Given the description of an element on the screen output the (x, y) to click on. 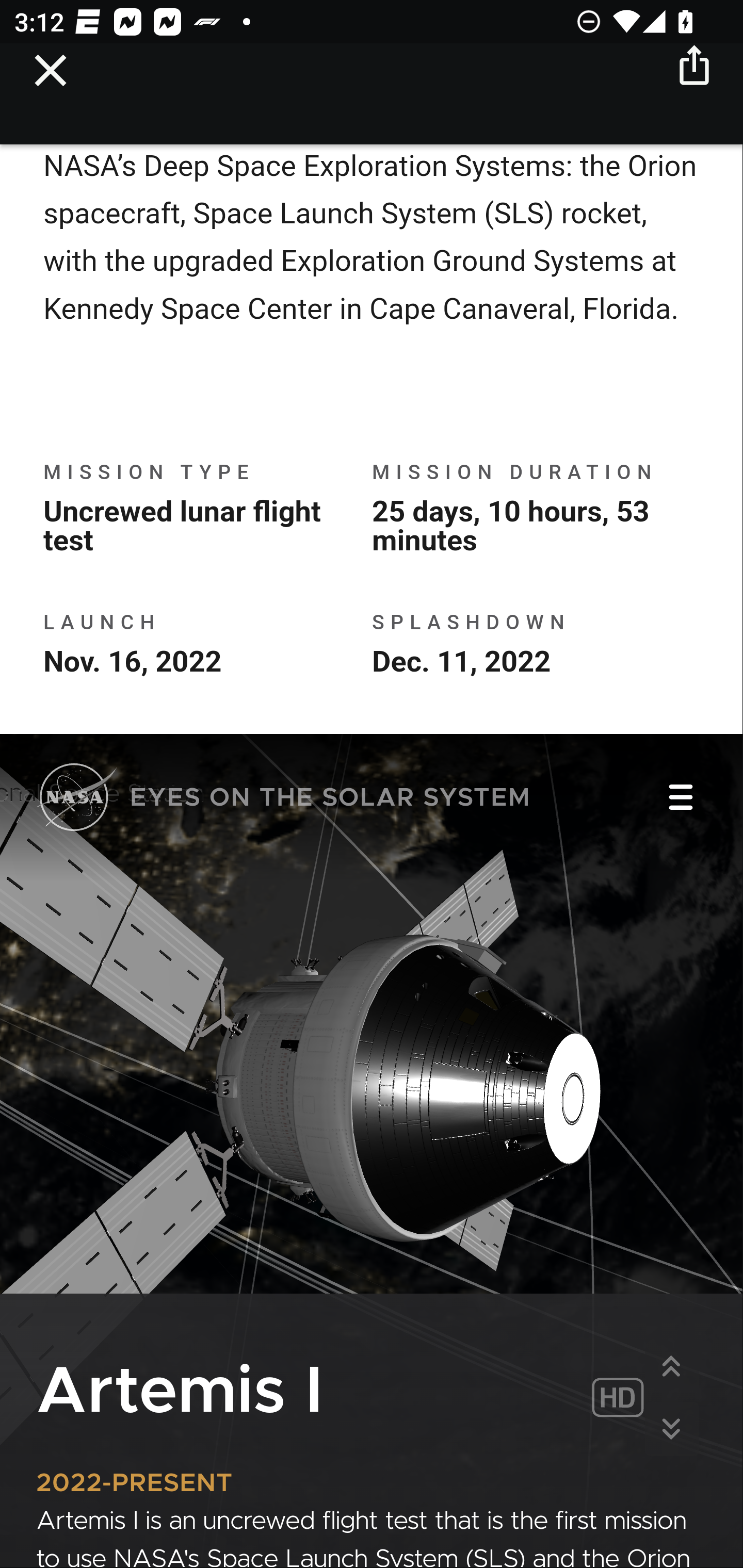
EYES ON THE SOLAR SYSTEM (283, 800)
Expand content panel to full screen (671, 1367)
Toggle high definition textures (617, 1400)
Collapse content panel (671, 1429)
